Given the description of an element on the screen output the (x, y) to click on. 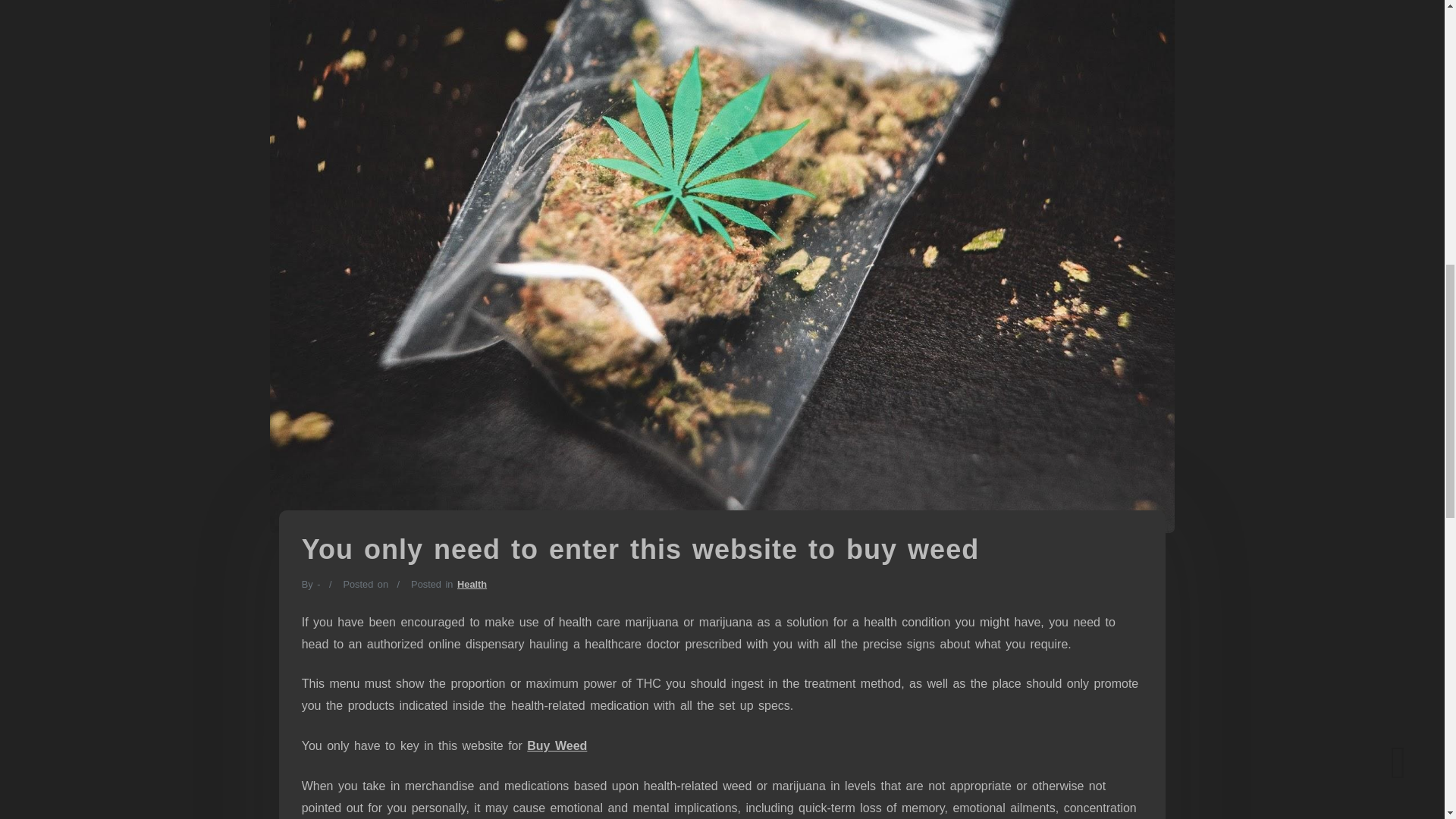
Buy Weed (556, 745)
Health (471, 583)
